Given the description of an element on the screen output the (x, y) to click on. 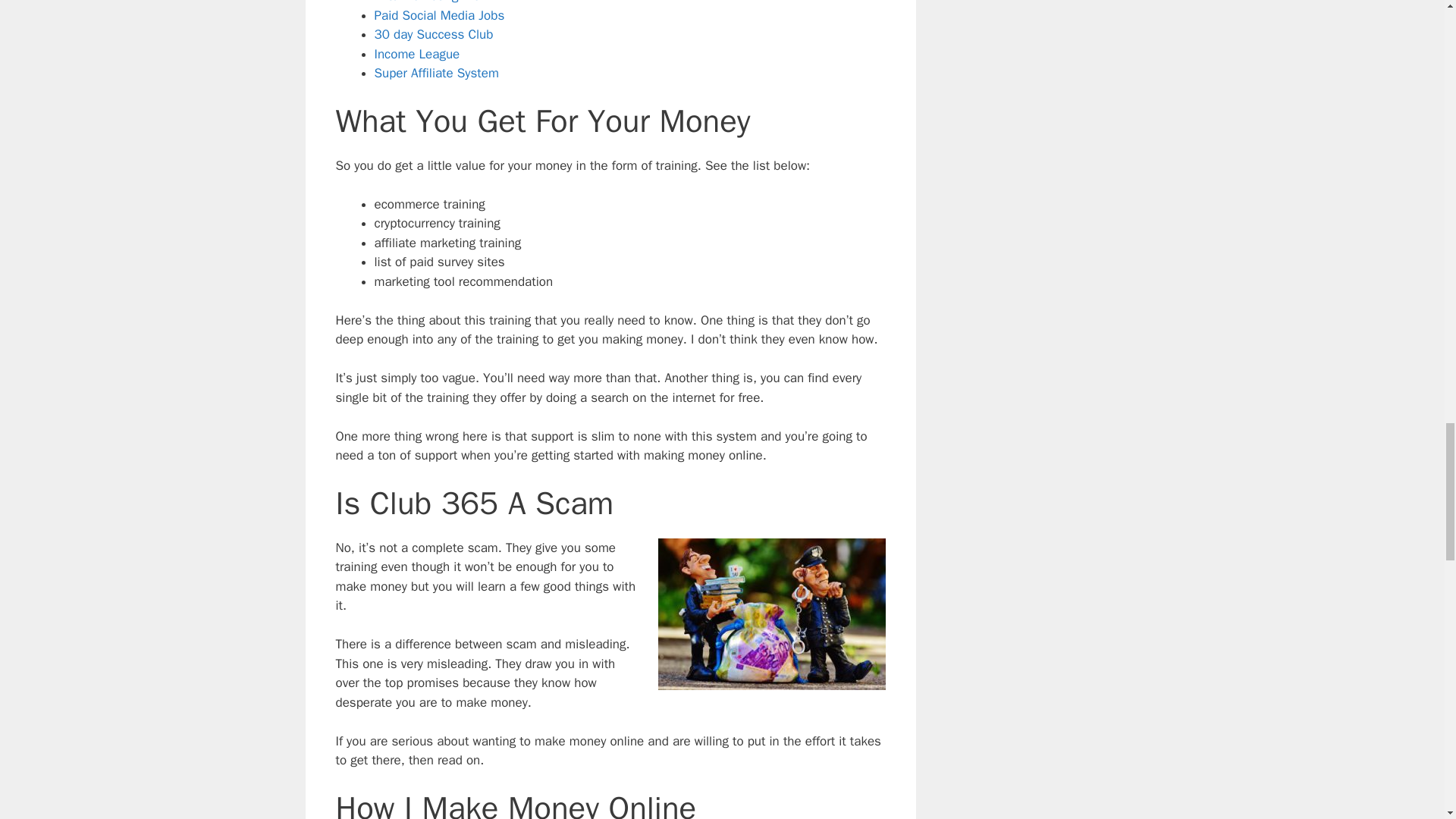
Elite Marketing Pro (427, 2)
30 day Success Club (433, 34)
Super Affiliate System (436, 73)
Income League (417, 53)
Paid Social Media Jobs (439, 15)
